Given the description of an element on the screen output the (x, y) to click on. 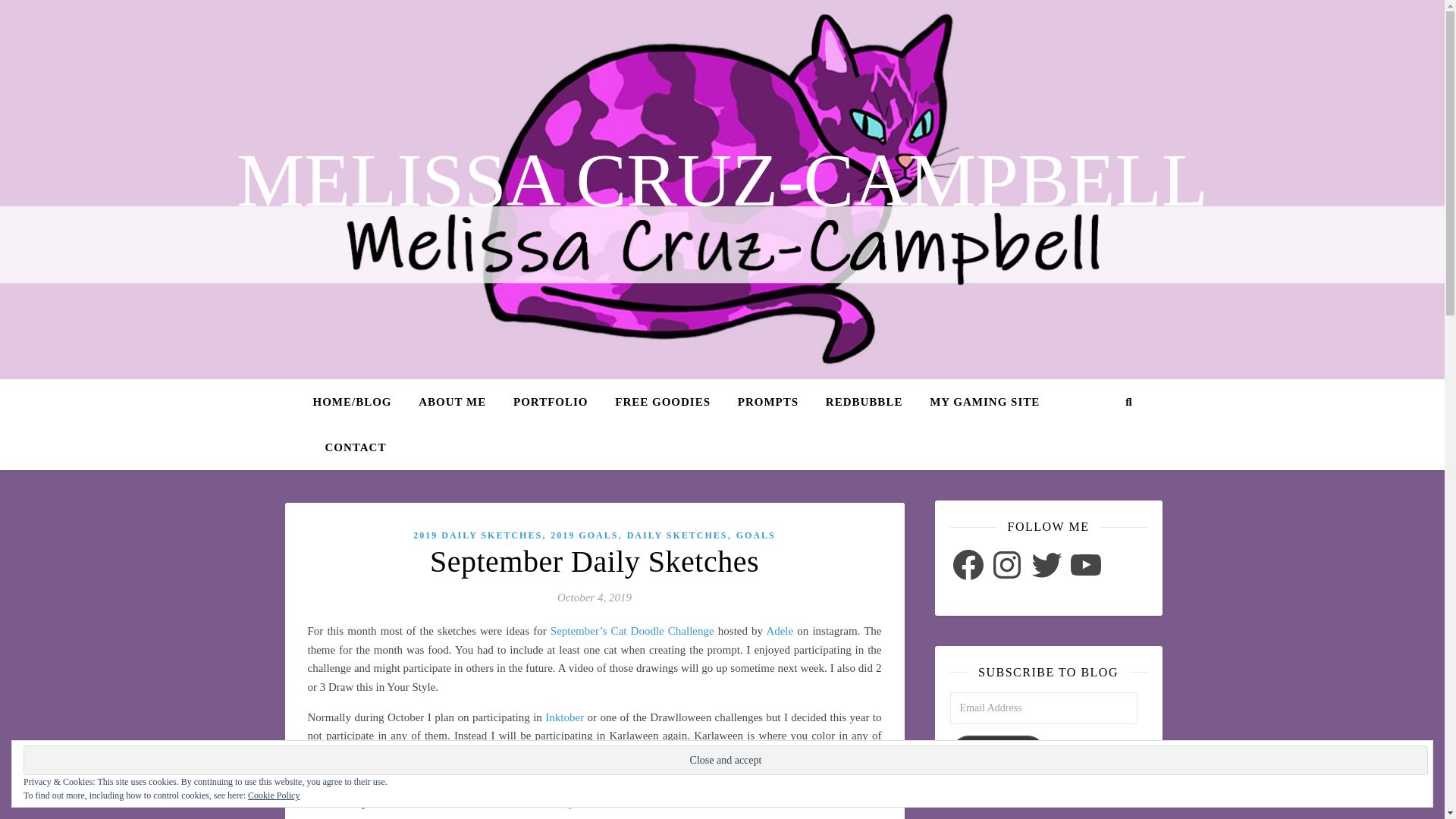
2019 DAILY SKETCHES (477, 535)
DAILY SKETCHES (677, 535)
Adele (779, 630)
ABOUT ME (451, 402)
REDBUBBLE (864, 402)
instagram (795, 754)
youtube (587, 802)
MY GAMING SITE (984, 402)
Inktober (563, 717)
CONTACT (349, 447)
PORTFOLIO (549, 402)
2019 GOALS (583, 535)
GOALS (756, 535)
FREE GOODIES (662, 402)
Close and accept (725, 759)
